Given the description of an element on the screen output the (x, y) to click on. 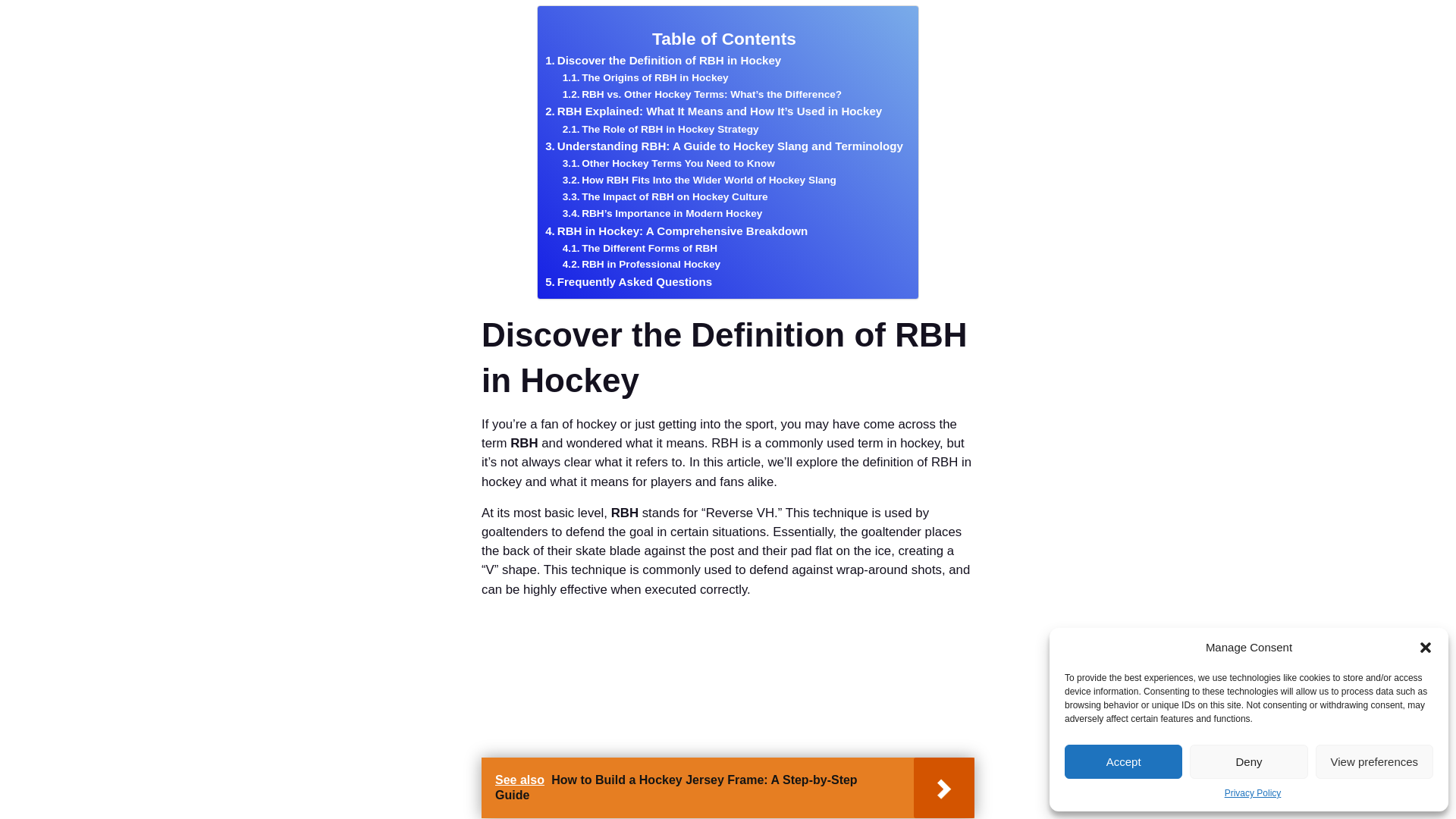
Other Hockey Terms You Need to Know (668, 163)
The Different Forms of RBH (639, 248)
The Different Forms of RBH (639, 248)
How RBH Fits Into the Wider World of Hockey Slang (698, 180)
RBH in Hockey: A Comprehensive Breakdown (676, 230)
Frequently Asked Questions (627, 281)
RBH in Hockey: A Comprehensive Breakdown (676, 230)
Other Hockey Terms You Need to Know (668, 163)
Understanding RBH: A Guide to Hockey Slang and Terminology (723, 146)
The Impact of RBH on Hockey Culture (665, 197)
The Role of RBH in Hockey Strategy (660, 129)
Discover the Definition of RBH in Hockey (662, 60)
RBH in Professional Hockey (641, 264)
The Role of RBH in Hockey Strategy (660, 129)
Discover the Definition of RBH in Hockey (662, 60)
